Given the description of an element on the screen output the (x, y) to click on. 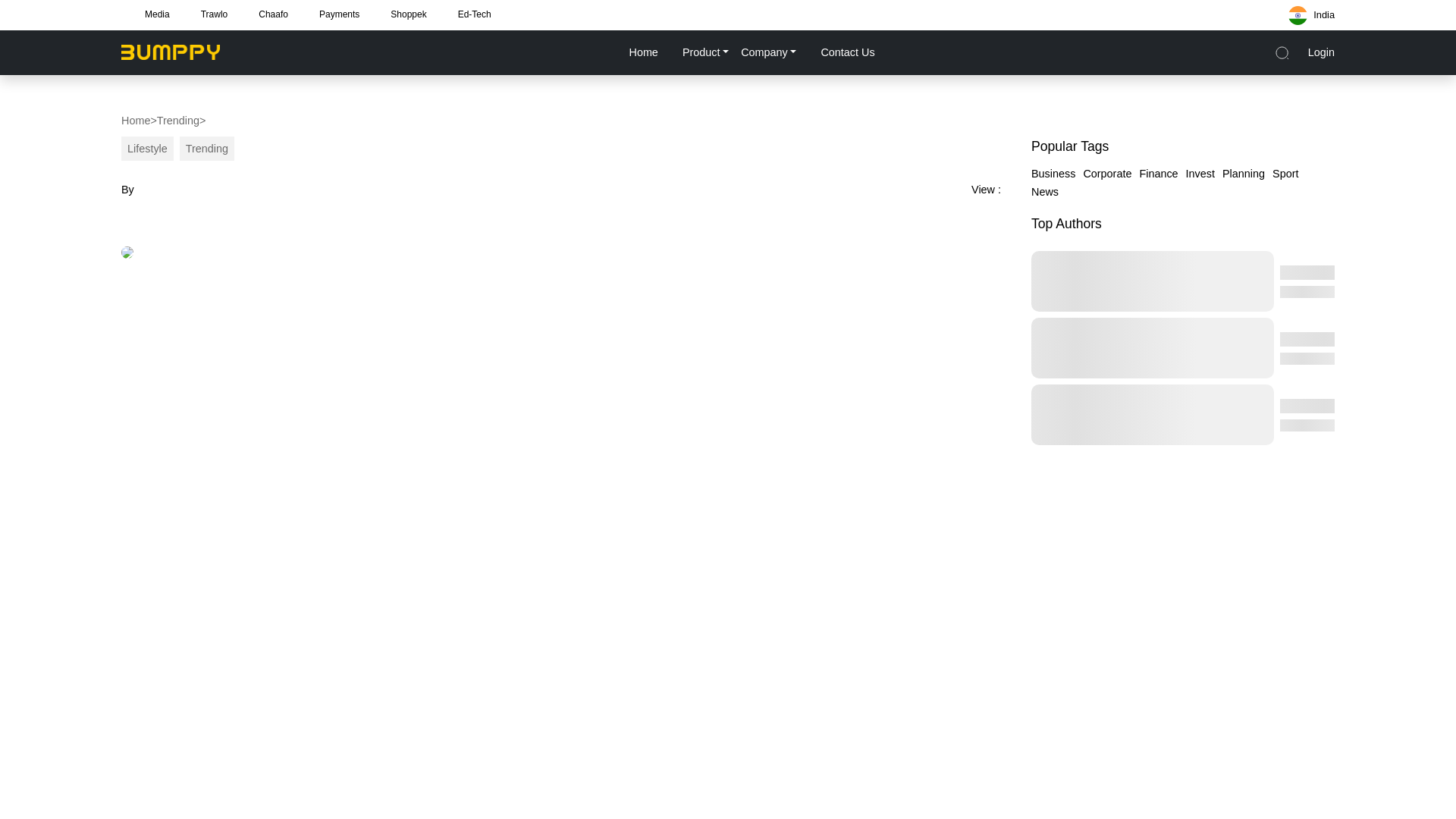
Home (134, 120)
Login (1321, 52)
Contact Us (847, 52)
Product (706, 52)
Company (768, 52)
Home (642, 52)
